Given the description of an element on the screen output the (x, y) to click on. 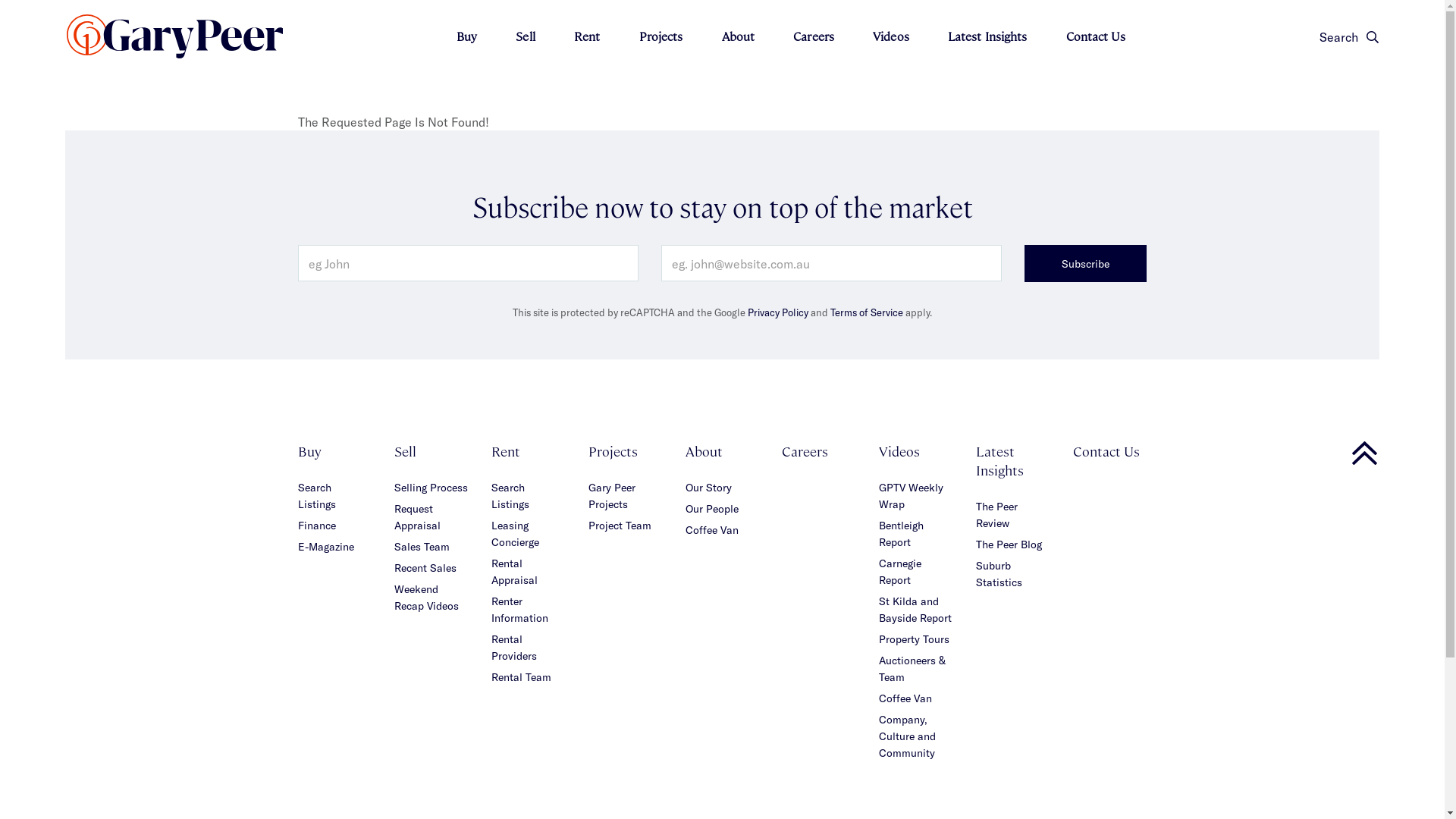
Contact Us Element type: text (1106, 450)
Sales Team Element type: text (421, 545)
The Peer Blog Element type: text (1008, 543)
Suburb Statistics Element type: text (998, 573)
Gary Peer Projects Element type: text (611, 495)
Coffee Van Element type: text (904, 697)
Carnegie Report Element type: text (899, 571)
GPTV Weekly Wrap Element type: text (910, 495)
Videos Element type: text (890, 36)
Contact Us Element type: text (1095, 36)
Careers Element type: text (813, 36)
Subscribe Element type: text (1085, 263)
Privacy Policy Element type: text (777, 312)
Selling Process Element type: text (430, 486)
Company, Culture and Community Element type: text (906, 735)
Terms of Service Element type: text (866, 312)
Property Tours Element type: text (913, 638)
Finance Element type: text (316, 524)
Rental Providers Element type: text (513, 647)
Rental Team Element type: text (521, 676)
The Peer Review Element type: text (996, 514)
Search Listings Element type: text (510, 495)
Recent Sales Element type: text (425, 567)
Videos Element type: text (898, 450)
Auctioneers & Team Element type: text (911, 668)
St Kilda and Bayside Report Element type: text (914, 609)
Request Appraisal Element type: text (417, 516)
Weekend Recap Videos Element type: text (426, 596)
Our Story Element type: text (708, 486)
Rental Appraisal Element type: text (514, 571)
Bentleigh Report Element type: text (900, 533)
Search Listings Element type: text (316, 495)
Renter Information Element type: text (519, 609)
Our People Element type: text (711, 508)
Careers Element type: text (804, 450)
E-Magazine Element type: text (325, 545)
Project Team Element type: text (619, 524)
Leasing Concierge Element type: text (515, 533)
Coffee Van Element type: text (711, 529)
